Given the description of an element on the screen output the (x, y) to click on. 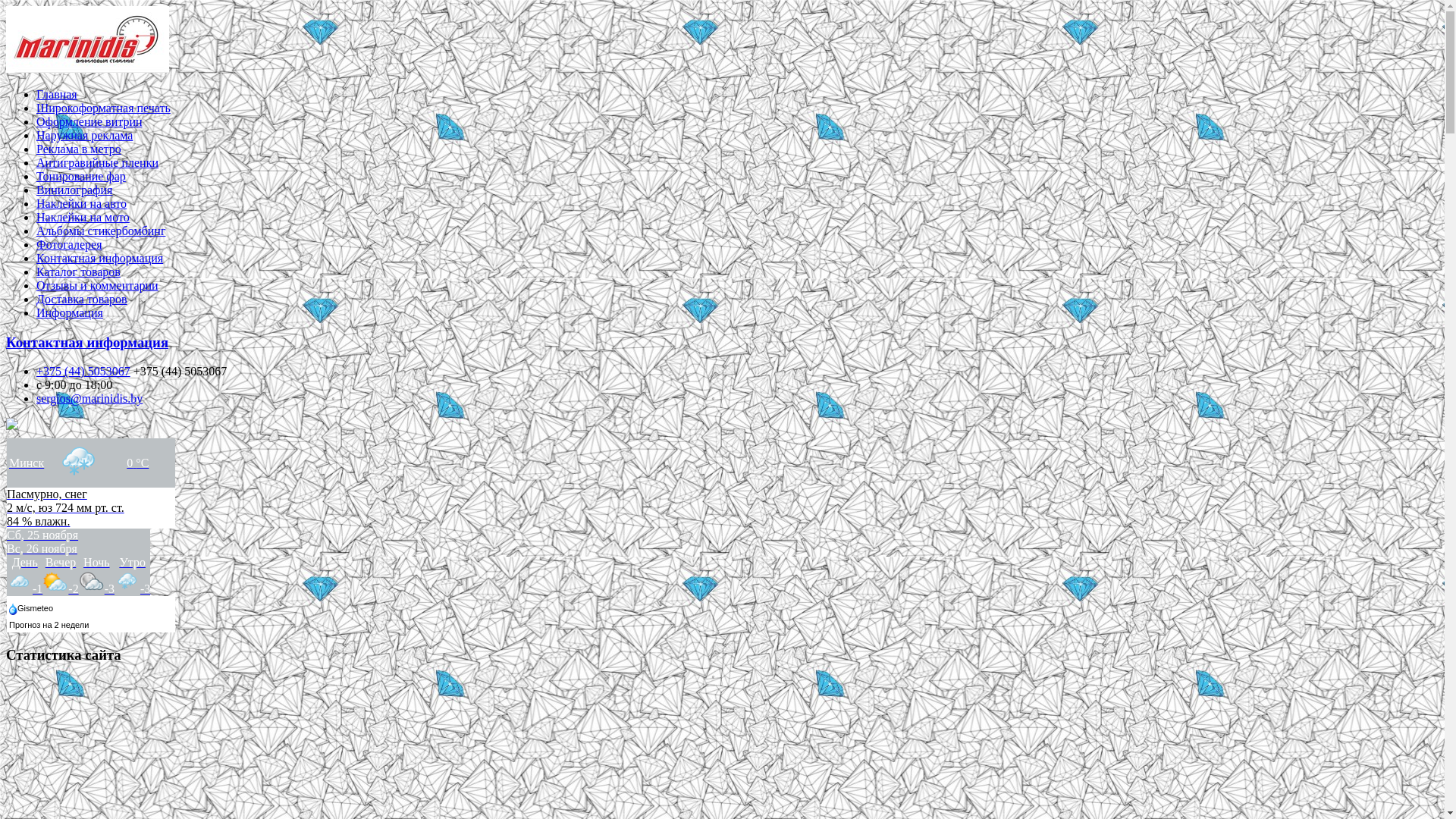
sergios@marinidis.by Element type: text (89, 398)
+375 (44) 5053067 Element type: text (83, 370)
